Given the description of an element on the screen output the (x, y) to click on. 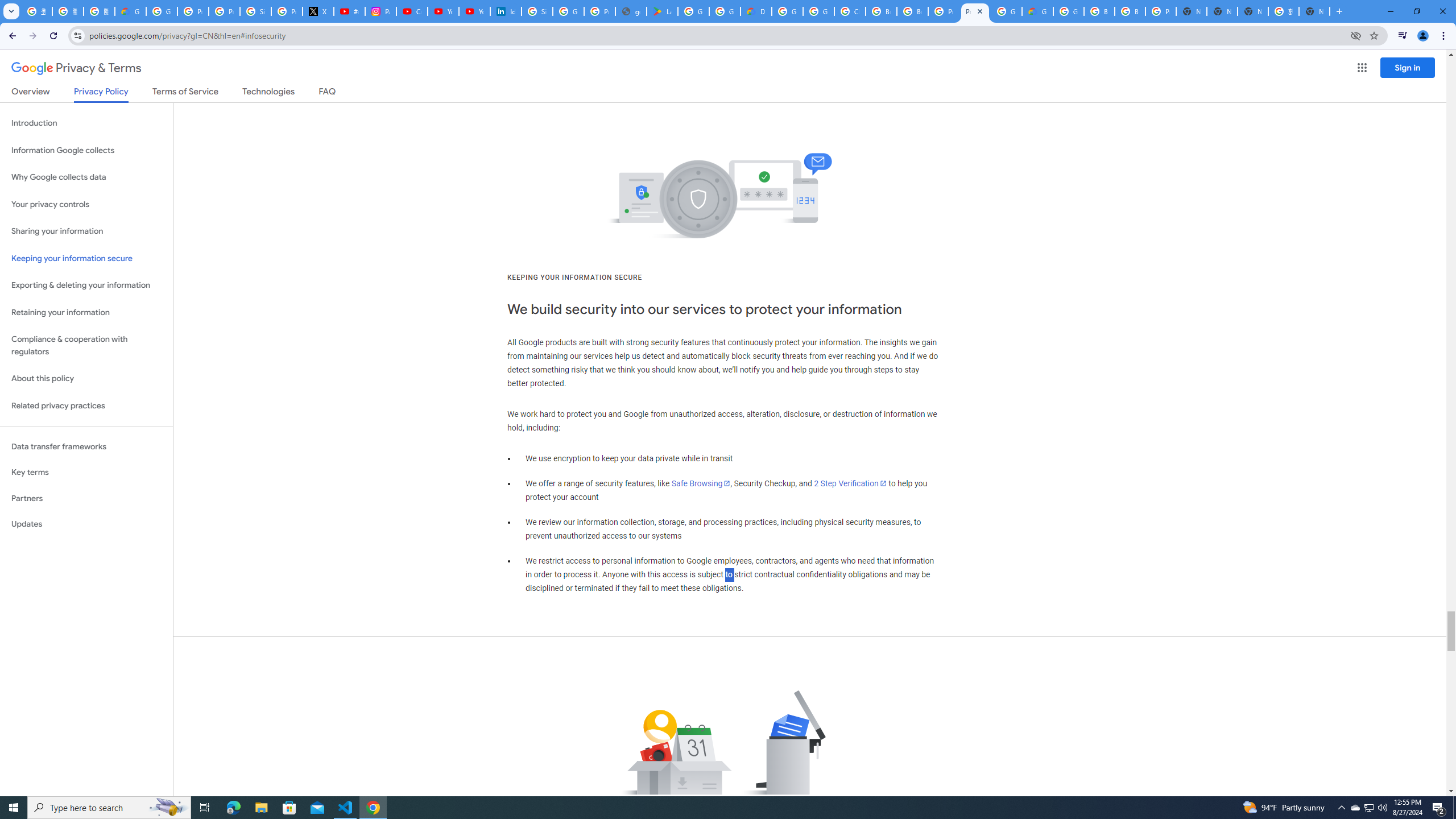
Updates (86, 524)
Forward (32, 35)
Terms of Service (184, 93)
Google Cloud Privacy Notice (130, 11)
YouTube Culture & Trends - YouTube Top 10, 2021 (474, 11)
2 Step Verification (849, 483)
Address and search bar (715, 35)
Technologies (268, 93)
X (318, 11)
Browse Chrome as a guest - Computer - Google Chrome Help (912, 11)
Why Google collects data (86, 176)
Safe Browsing (700, 483)
